Given the description of an element on the screen output the (x, y) to click on. 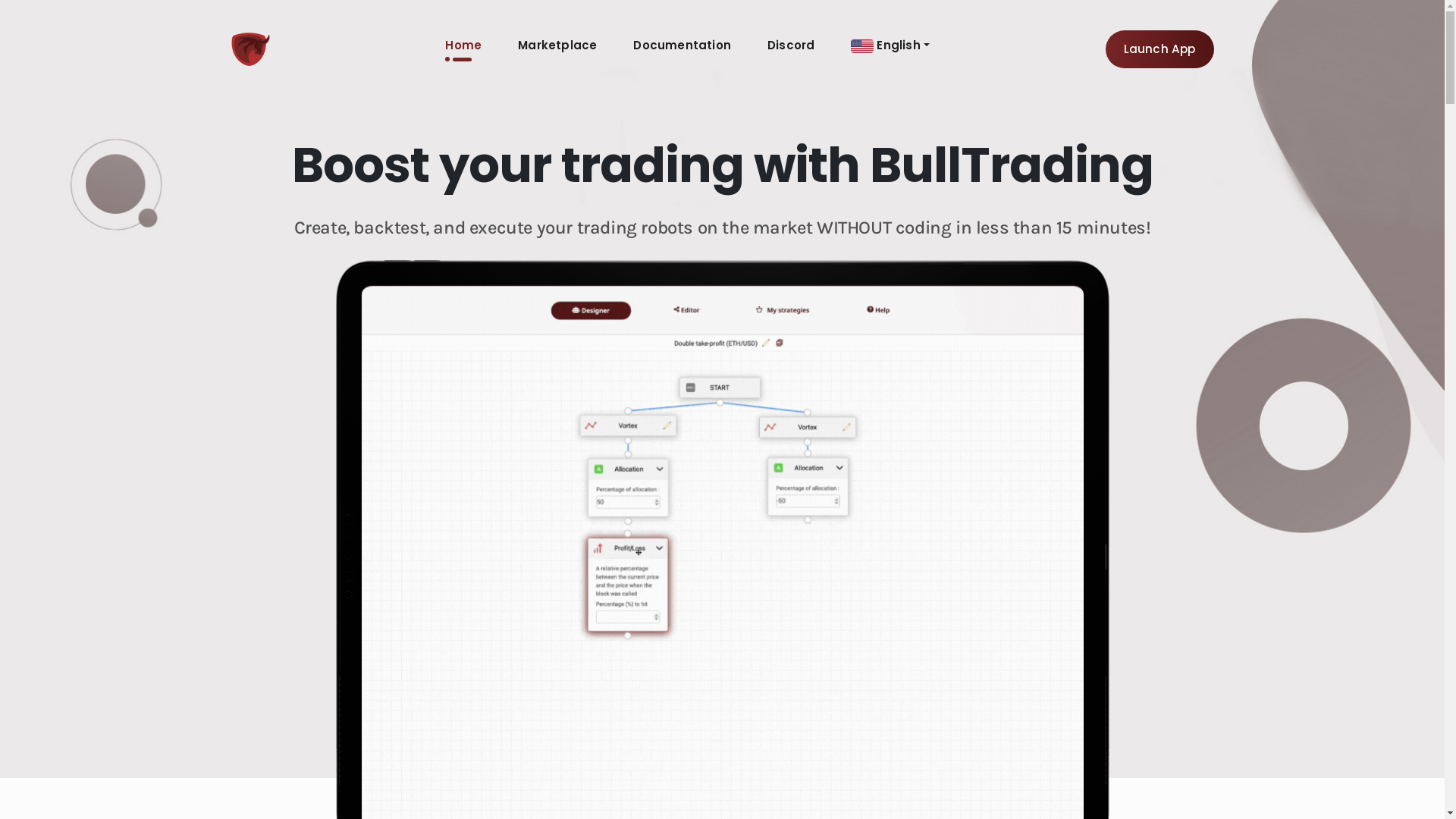
Launch App Element type: text (1159, 49)
Discord Element type: text (790, 45)
Marketplace Element type: text (556, 45)
English Element type: text (889, 45)
Home Element type: text (463, 49)
Documentation Element type: text (682, 45)
